Given the description of an element on the screen output the (x, y) to click on. 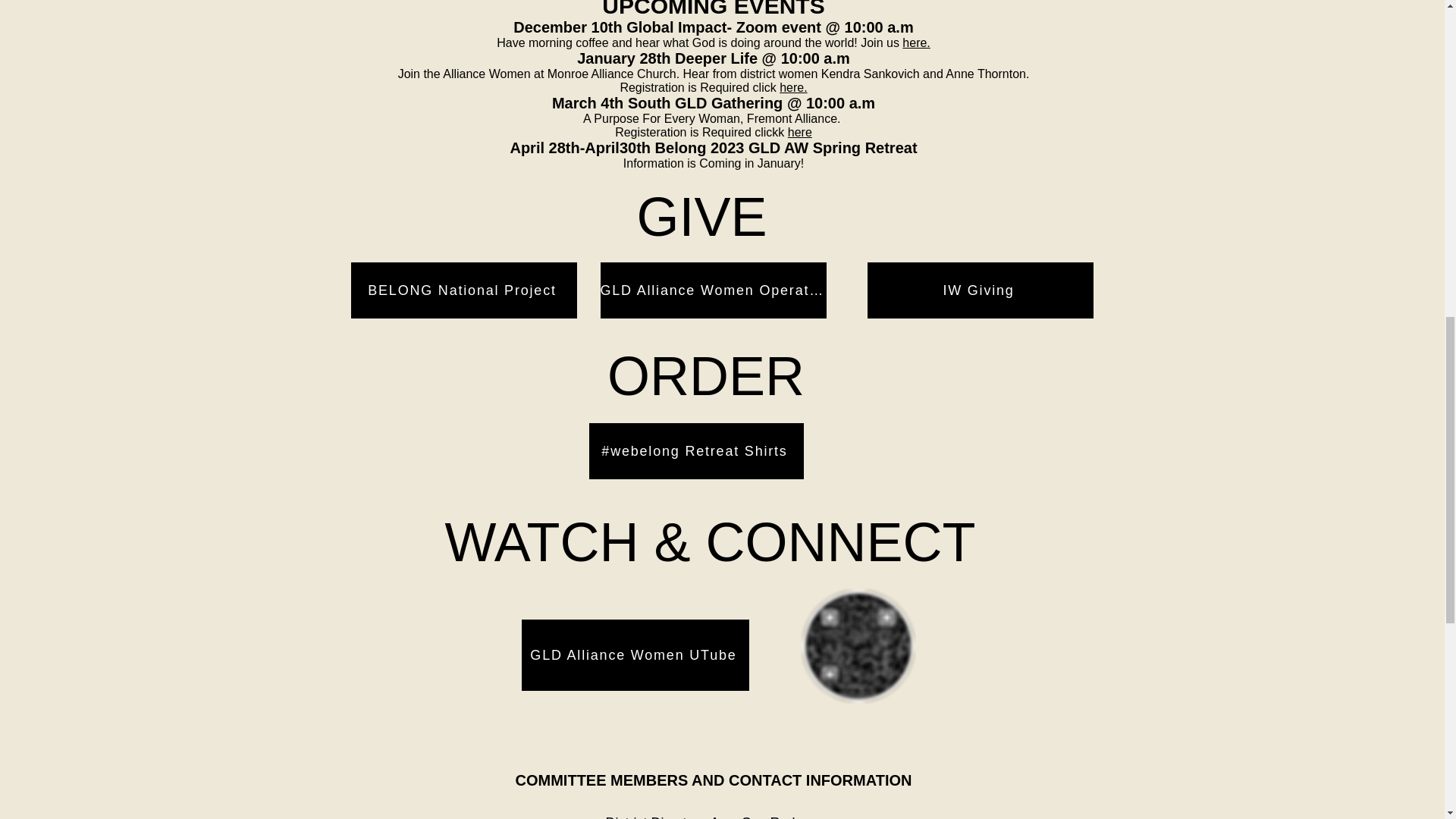
BELONG National Project (463, 290)
GLD Alliance Women Operating (713, 290)
here (799, 132)
IW Giving (980, 290)
here. (792, 87)
here. (916, 42)
